Given the description of an element on the screen output the (x, y) to click on. 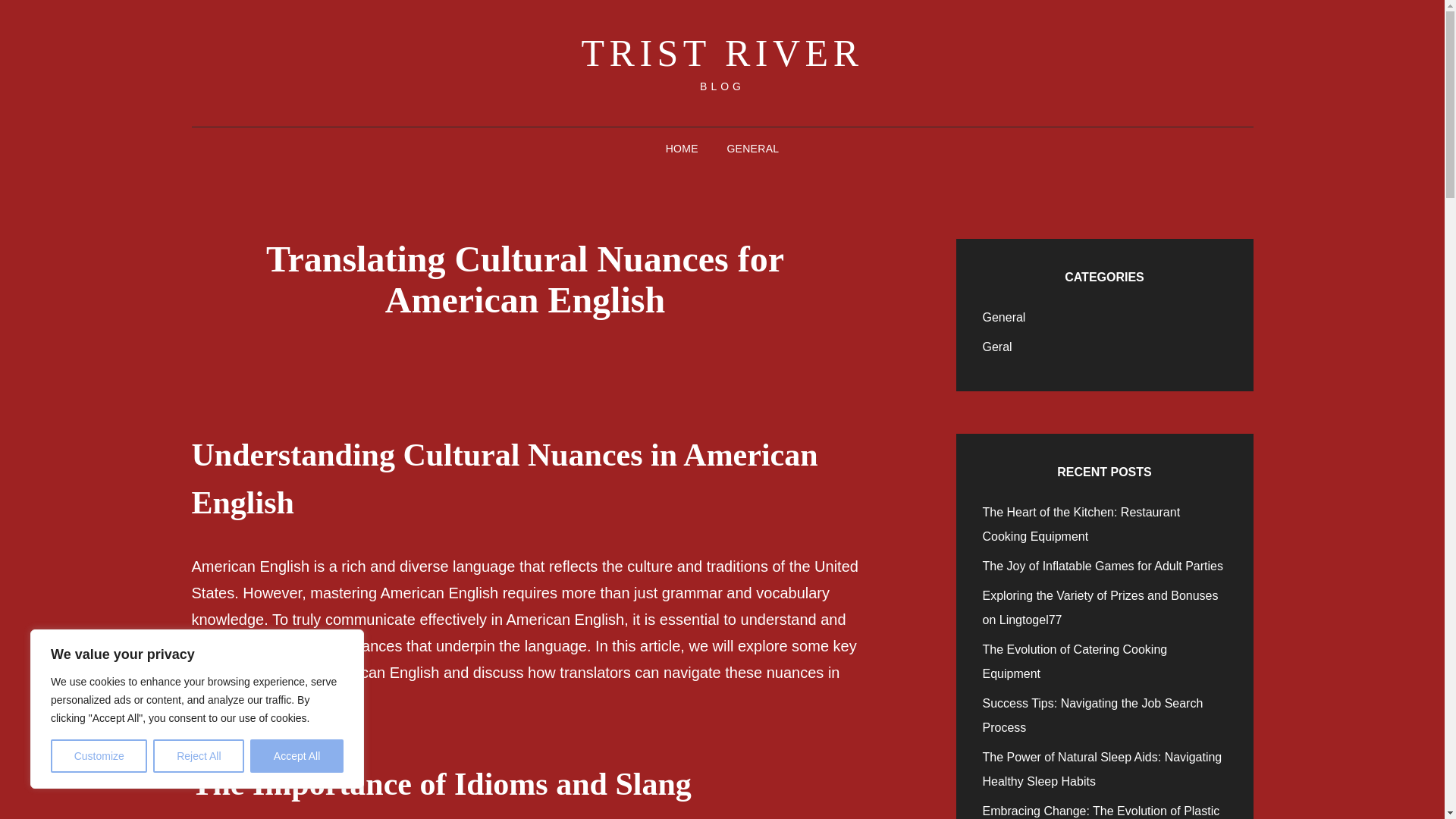
Geral (996, 346)
TRIST RIVER (721, 52)
Success Tips: Navigating the Job Search Process (1093, 714)
Customize (98, 756)
The Evolution of Catering Cooking Equipment (1074, 661)
Reject All (198, 756)
General (1004, 317)
Accept All (296, 756)
